Given the description of an element on the screen output the (x, y) to click on. 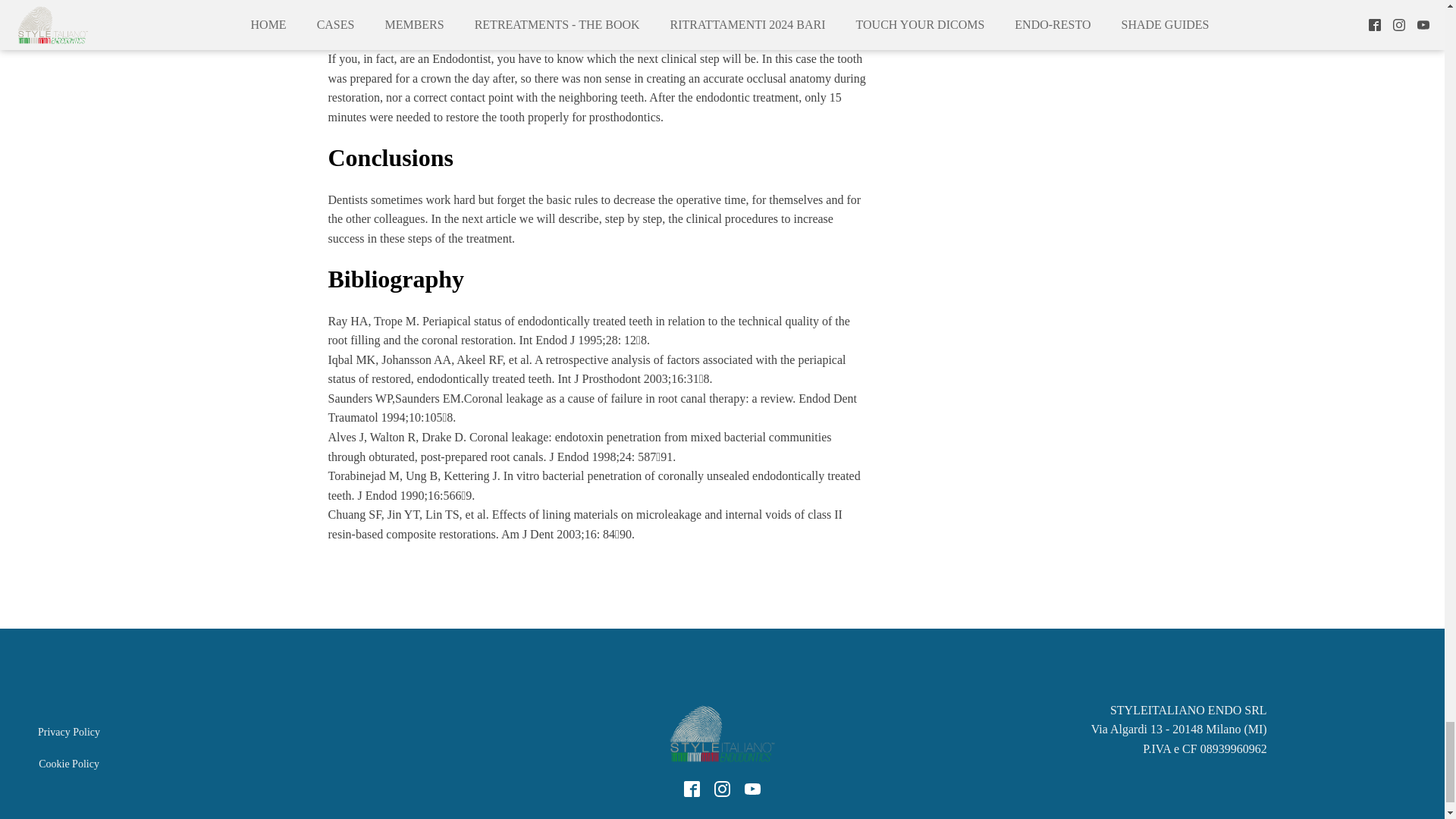
Privacy Policy (68, 732)
Cookie Policy (68, 764)
